Given the description of an element on the screen output the (x, y) to click on. 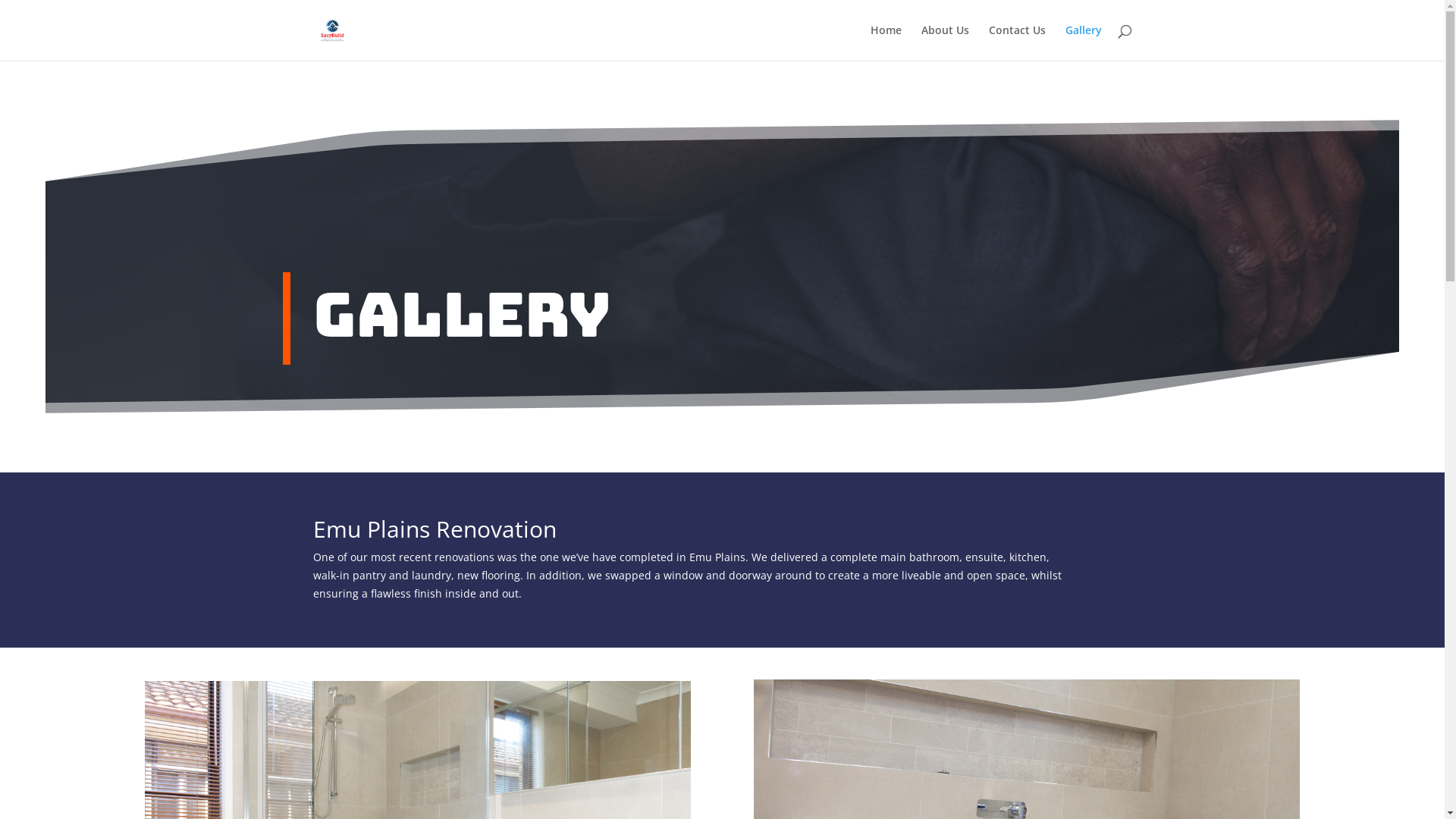
Home Element type: text (885, 42)
Contact Us Element type: text (1016, 42)
About Us Element type: text (944, 42)
Gallery Element type: text (1082, 42)
